Given the description of an element on the screen output the (x, y) to click on. 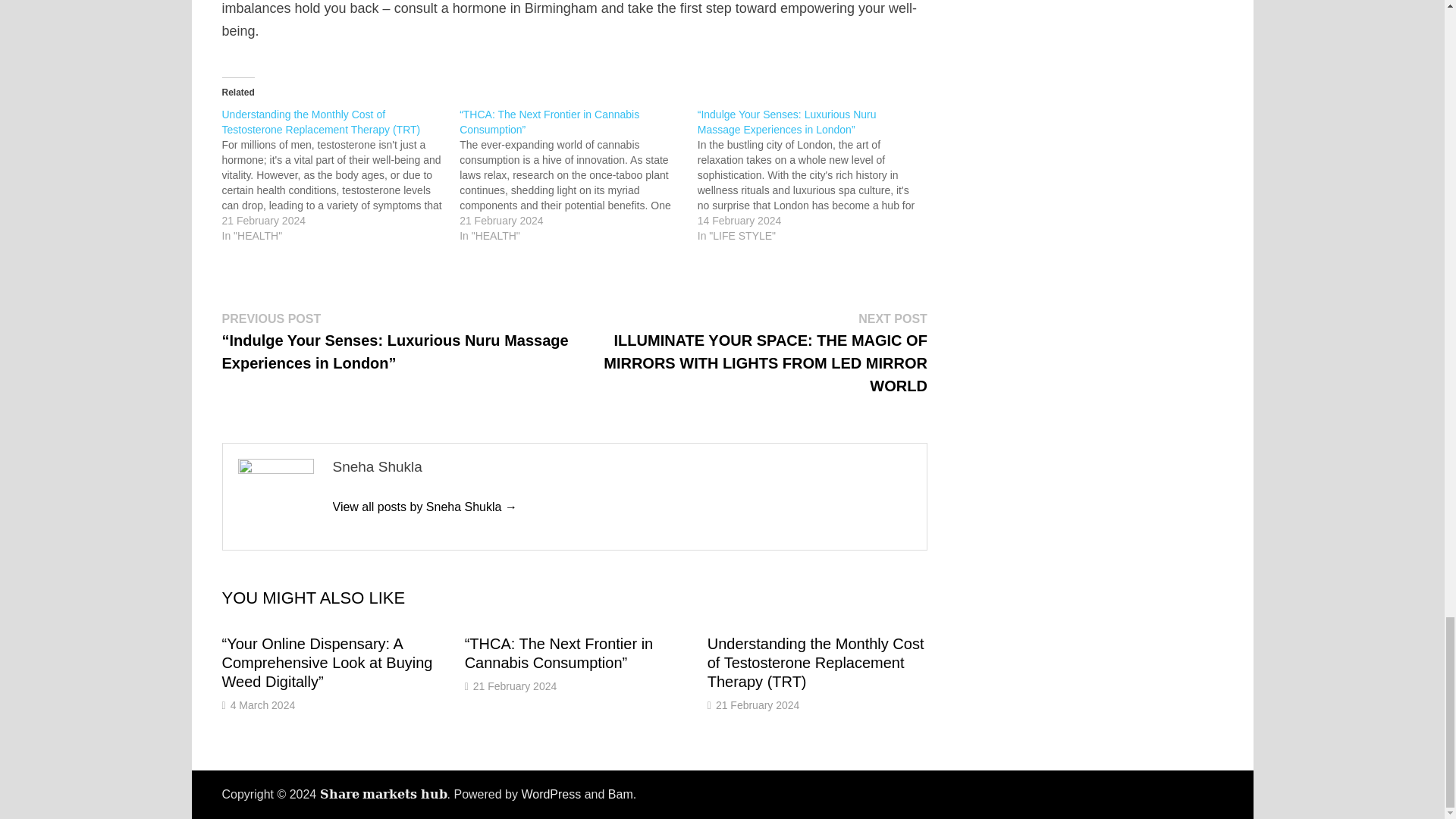
Sneha Shukla (423, 506)
